Given the description of an element on the screen output the (x, y) to click on. 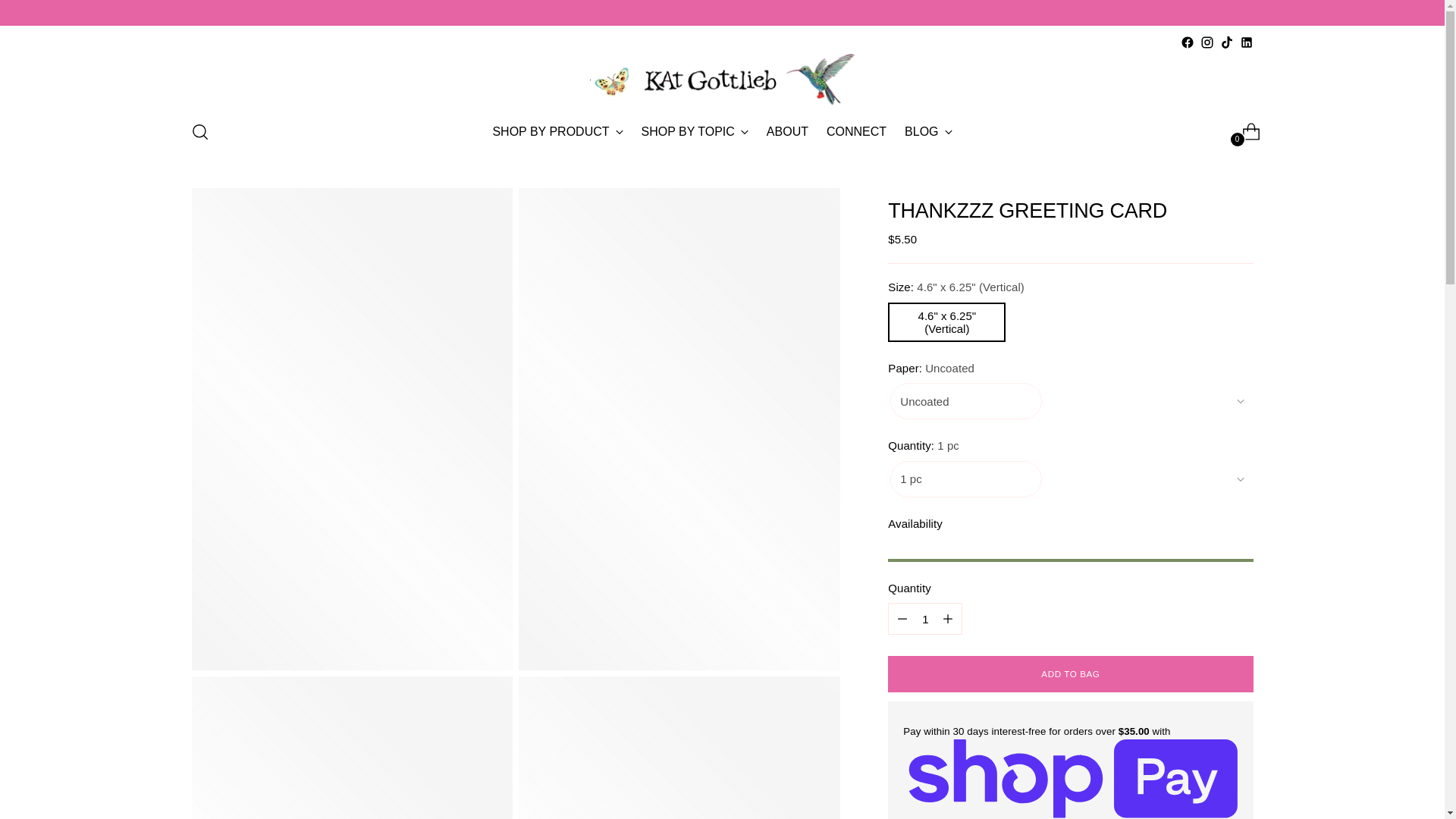
KatGottlieb on Facebook (722, 132)
KatGottlieb on Tiktok (1186, 42)
SHOP BY PRODUCT (1226, 42)
SHOP BY TOPIC (557, 131)
1 (695, 131)
KatGottlieb on LinkedIn (925, 618)
KatGottlieb on Instagram (1245, 42)
